Given the description of an element on the screen output the (x, y) to click on. 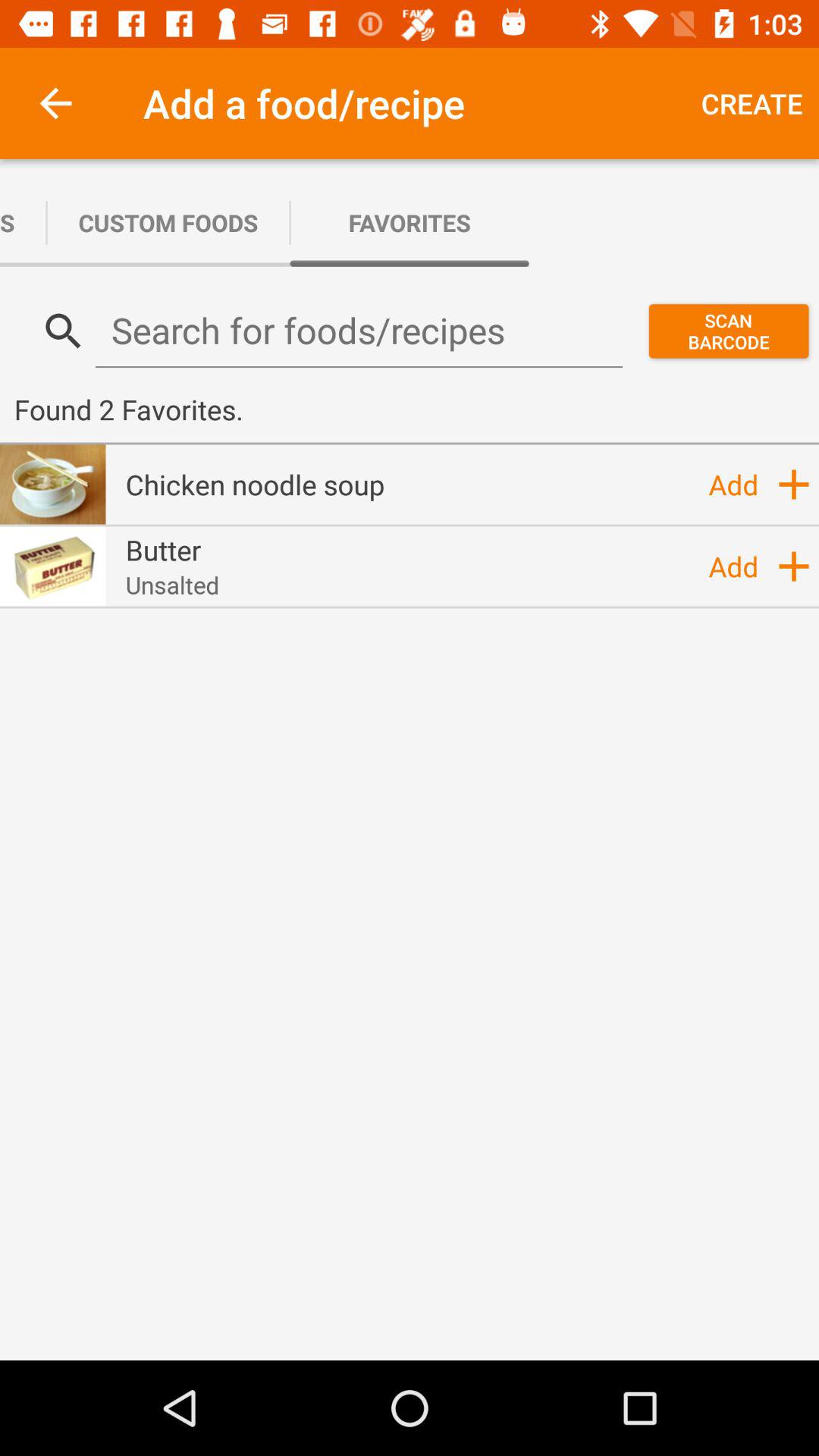
swipe to custom foods app (168, 222)
